Given the description of an element on the screen output the (x, y) to click on. 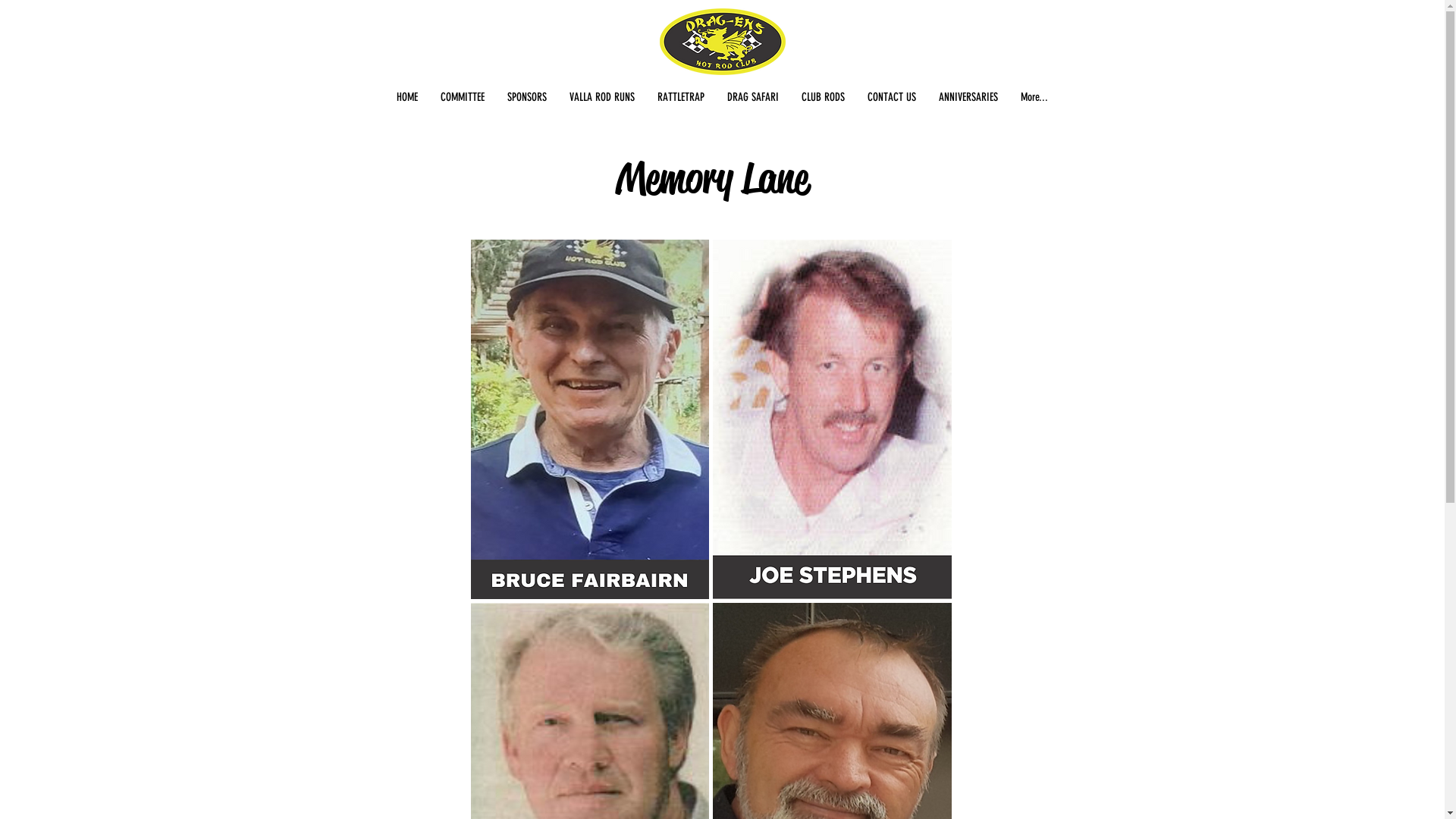
CONTACT US Element type: text (891, 96)
VALLA ROD RUNS Element type: text (602, 96)
ANNIVERSARIES Element type: text (968, 96)
COMMITTEE Element type: text (462, 96)
RATTLETRAP Element type: text (680, 96)
SPONSORS Element type: text (526, 96)
HOME Element type: text (407, 96)
CLUB RODS Element type: text (823, 96)
DRAG SAFARI Element type: text (752, 96)
